Given the description of an element on the screen output the (x, y) to click on. 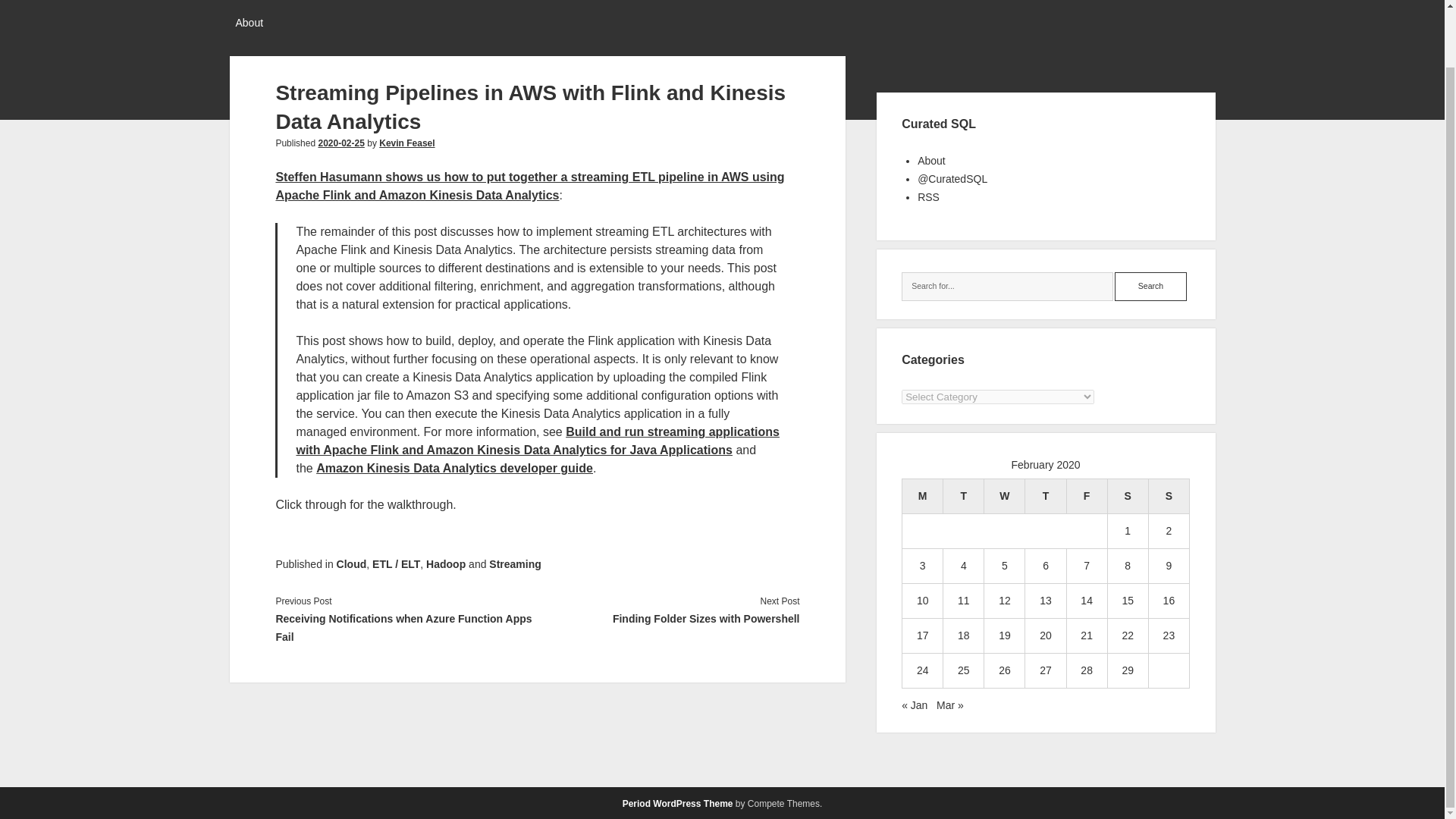
Sunday (1168, 495)
24 (922, 670)
20 (1045, 635)
About (930, 160)
Hadoop (445, 563)
Tuesday (963, 495)
Search (1150, 286)
28 (1086, 670)
Search for: (1007, 286)
Amazon Kinesis Data Analytics developer guide (453, 468)
Saturday (1127, 495)
Cloud (351, 563)
Kevin Feasel (405, 143)
About (248, 23)
Streaming (514, 563)
